Given the description of an element on the screen output the (x, y) to click on. 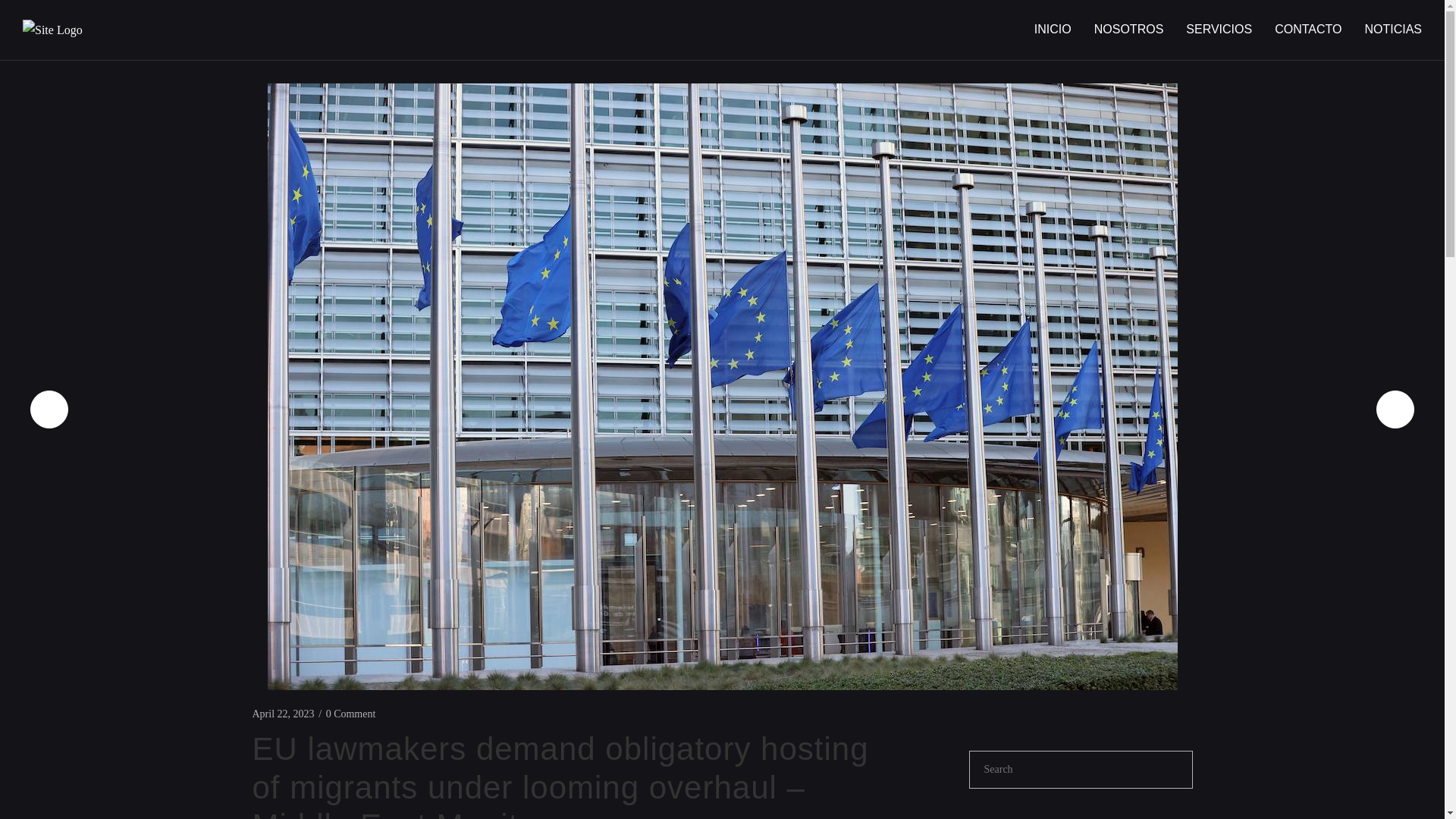
INICIO (1052, 29)
SERVICIOS (1219, 29)
CONTACTO (1307, 29)
NOSOTROS (1128, 29)
search (1061, 769)
0 Comment (350, 714)
April 22, 2023 (282, 714)
 Search (1173, 769)
NOTICIAS (1393, 29)
